Given the description of an element on the screen output the (x, y) to click on. 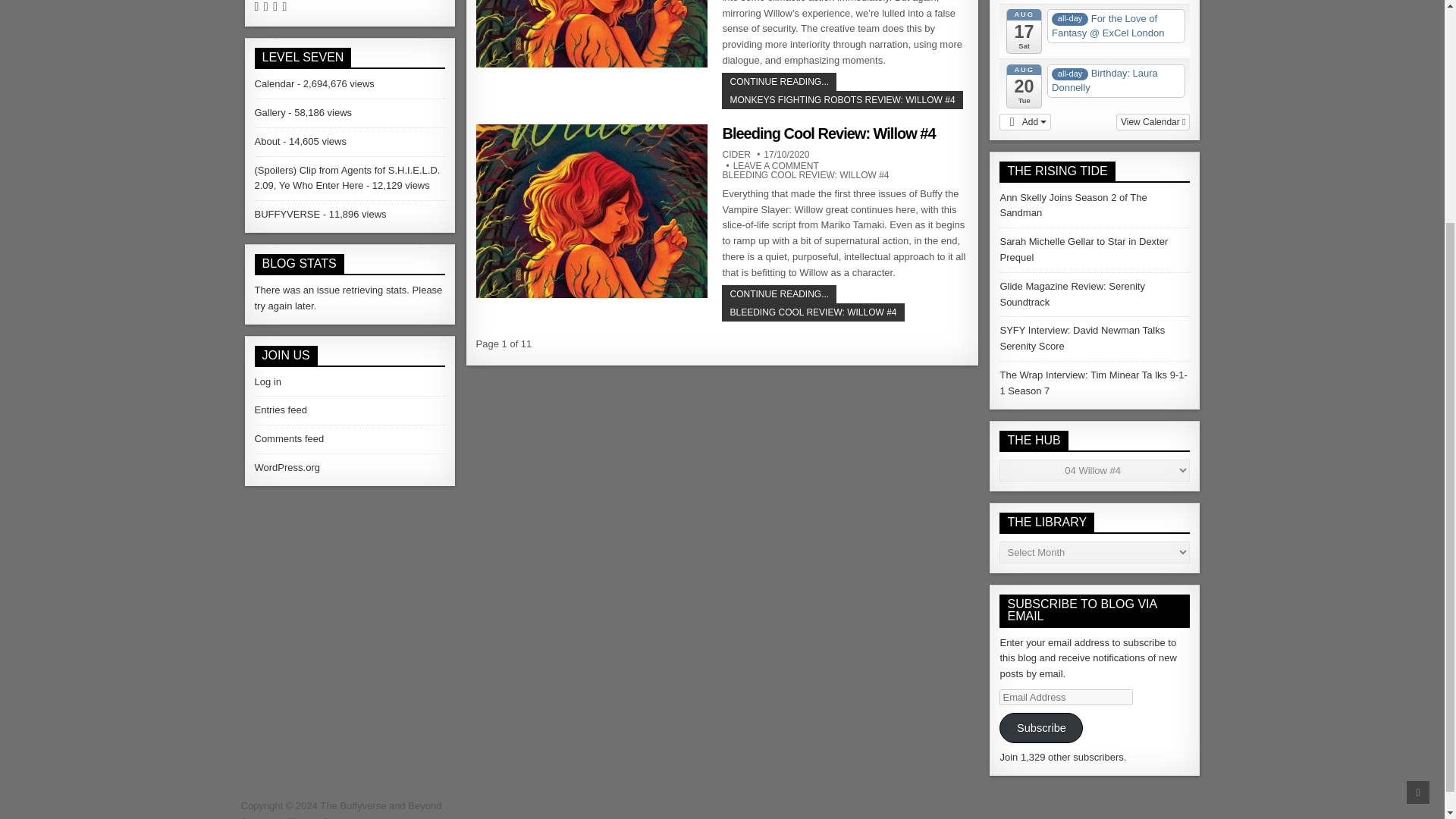
Gallery (269, 112)
Calendar (274, 83)
BUFFYVERSE (287, 214)
Scroll to Top (1417, 487)
Scroll to Top (1417, 487)
About (267, 141)
